Given the description of an element on the screen output the (x, y) to click on. 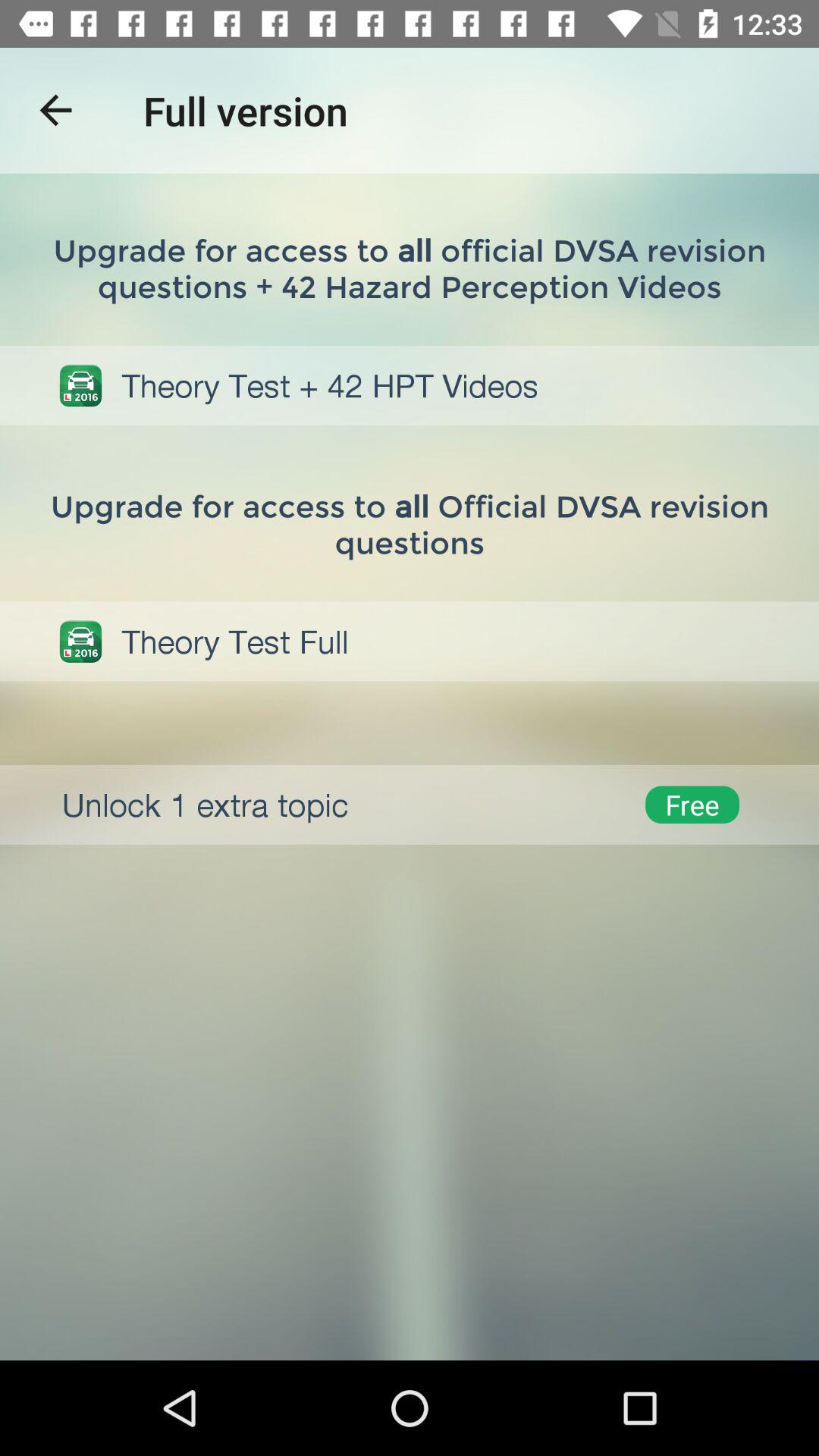
launch item next to full version item (55, 110)
